Given the description of an element on the screen output the (x, y) to click on. 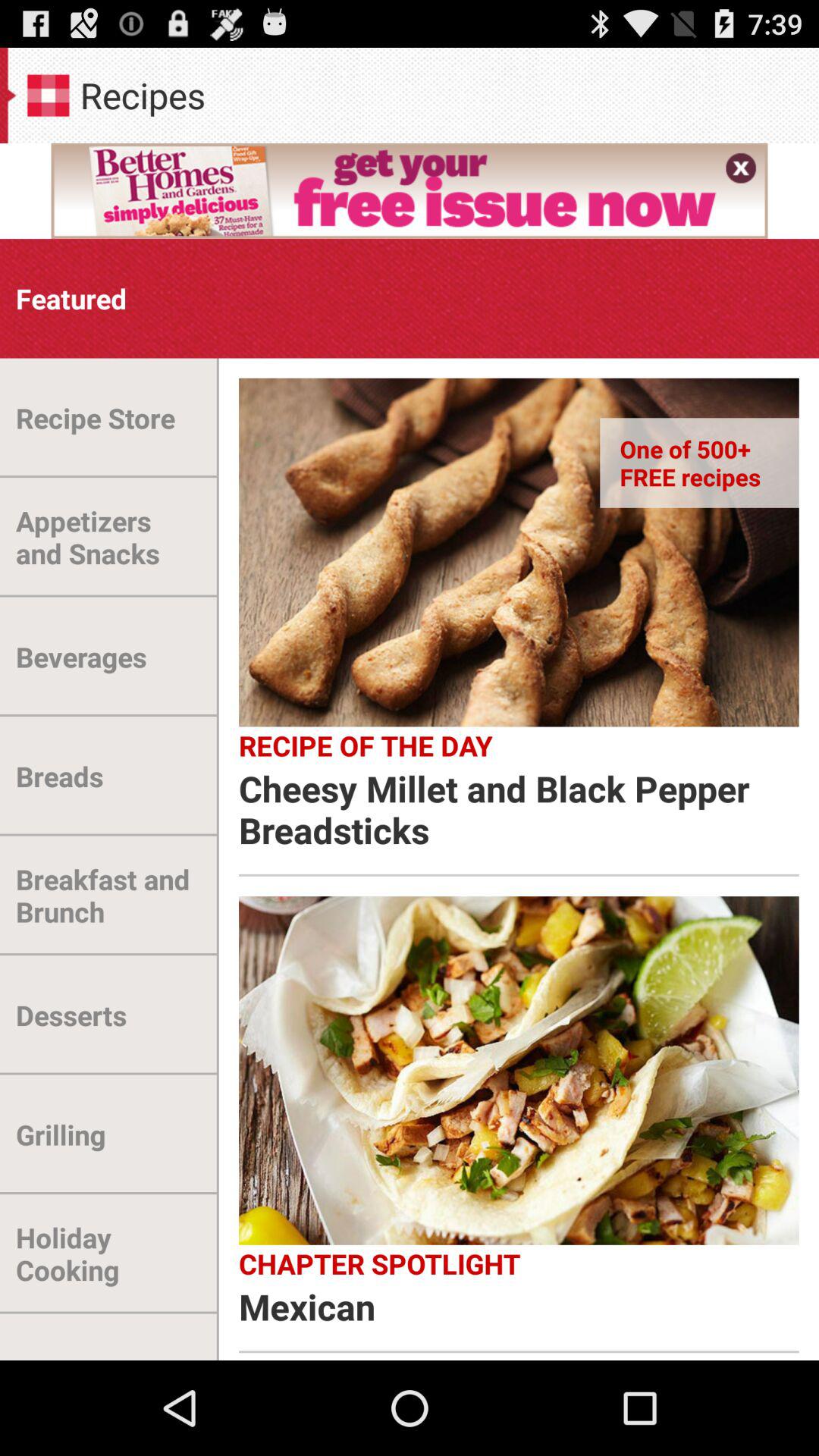
select the first frame below recipes (409, 190)
